Given the description of an element on the screen output the (x, y) to click on. 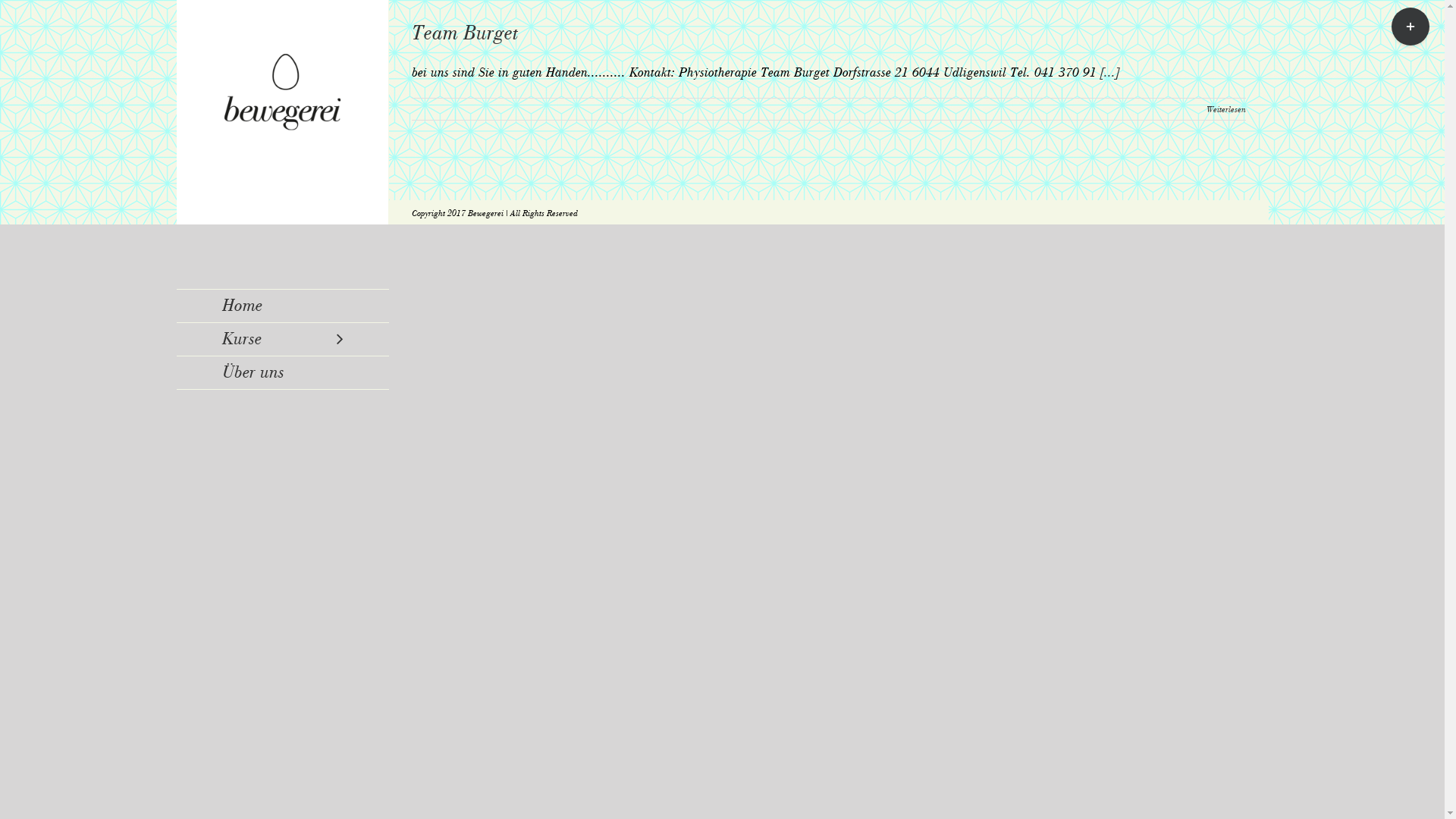
[...] Element type: text (1108, 71)
Kurse Element type: text (281, 339)
Home Element type: text (281, 305)
Weiterlesen Element type: text (1225, 108)
Toggle Sliding Bar Area Element type: text (1410, 26)
Team Burget Element type: text (464, 32)
